Given the description of an element on the screen output the (x, y) to click on. 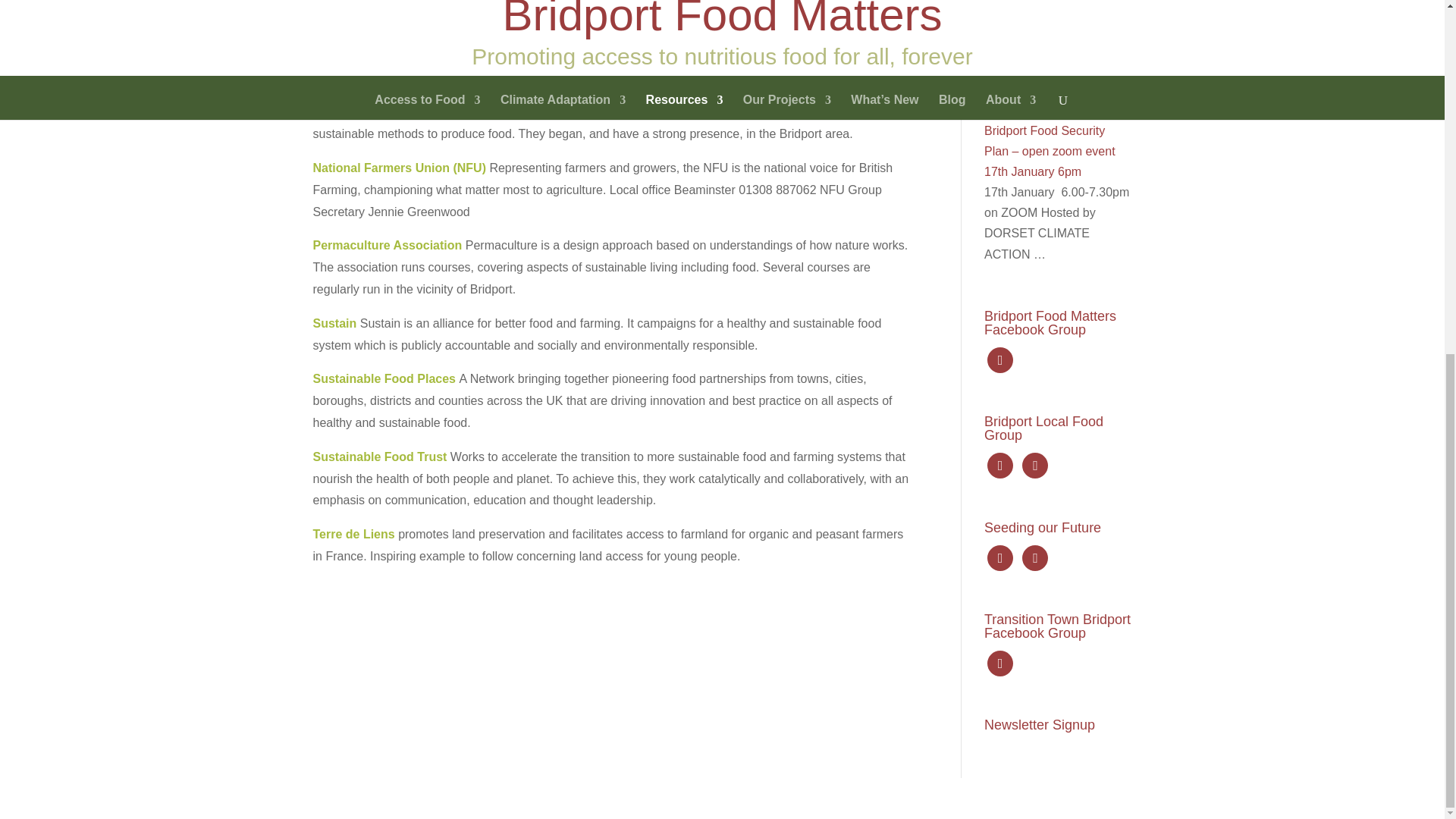
Email (329, 3)
Default Label (1035, 464)
Green Cuisine Trust (371, 33)
Default Label (1035, 556)
Facebook (1000, 662)
Facebook (1000, 464)
Instagram (478, 3)
Facebook (1000, 358)
Facebook (1000, 556)
Facebook (558, 3)
